Given the description of an element on the screen output the (x, y) to click on. 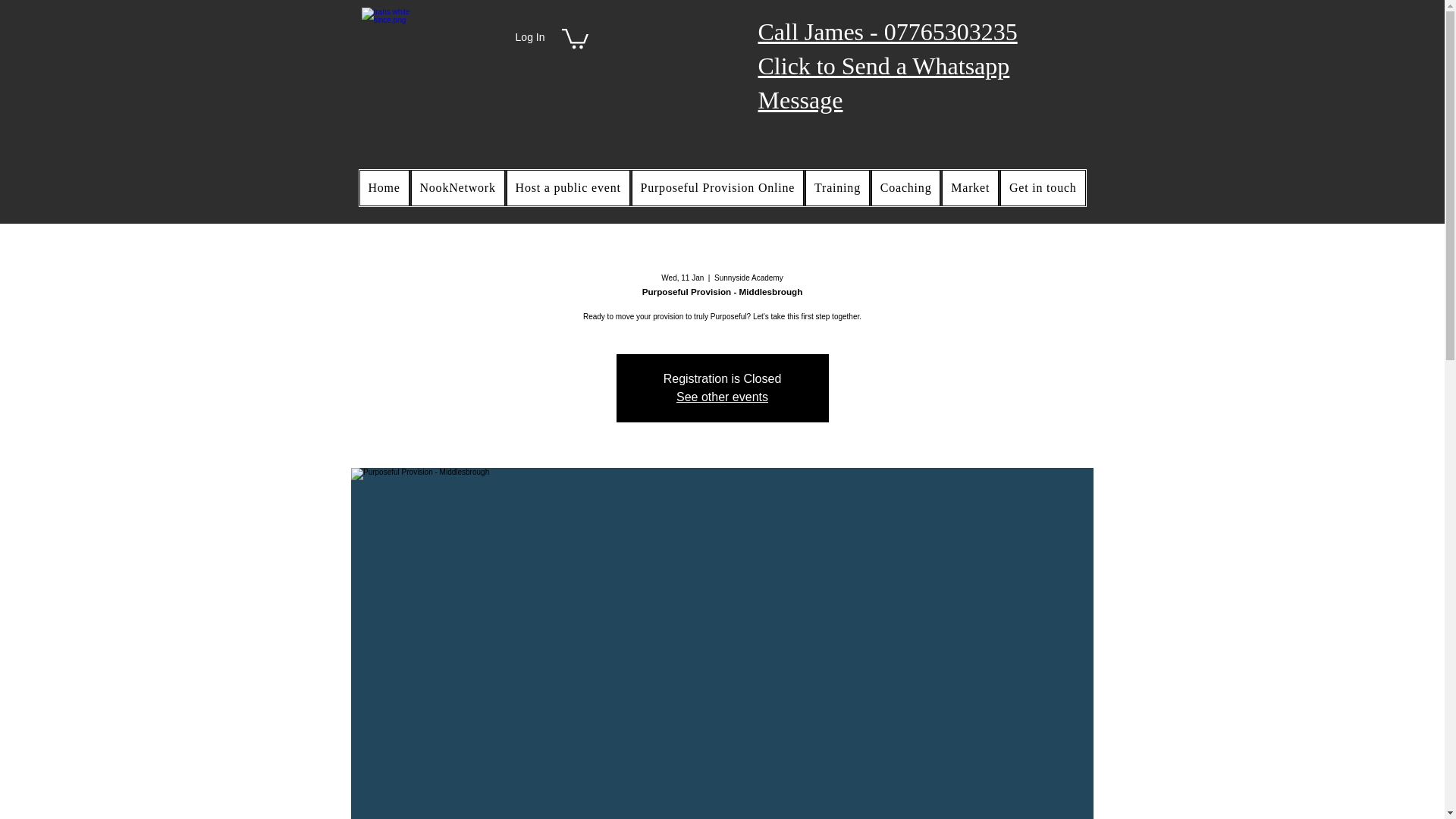
Log In (530, 37)
Host a public event (568, 187)
Training (837, 187)
Call James - 07765303235 (887, 31)
Purposeful Provision Online (718, 187)
Coaching (905, 187)
Click to Send a Whatsapp Message (884, 82)
Home (384, 187)
Market (970, 187)
